Given the description of an element on the screen output the (x, y) to click on. 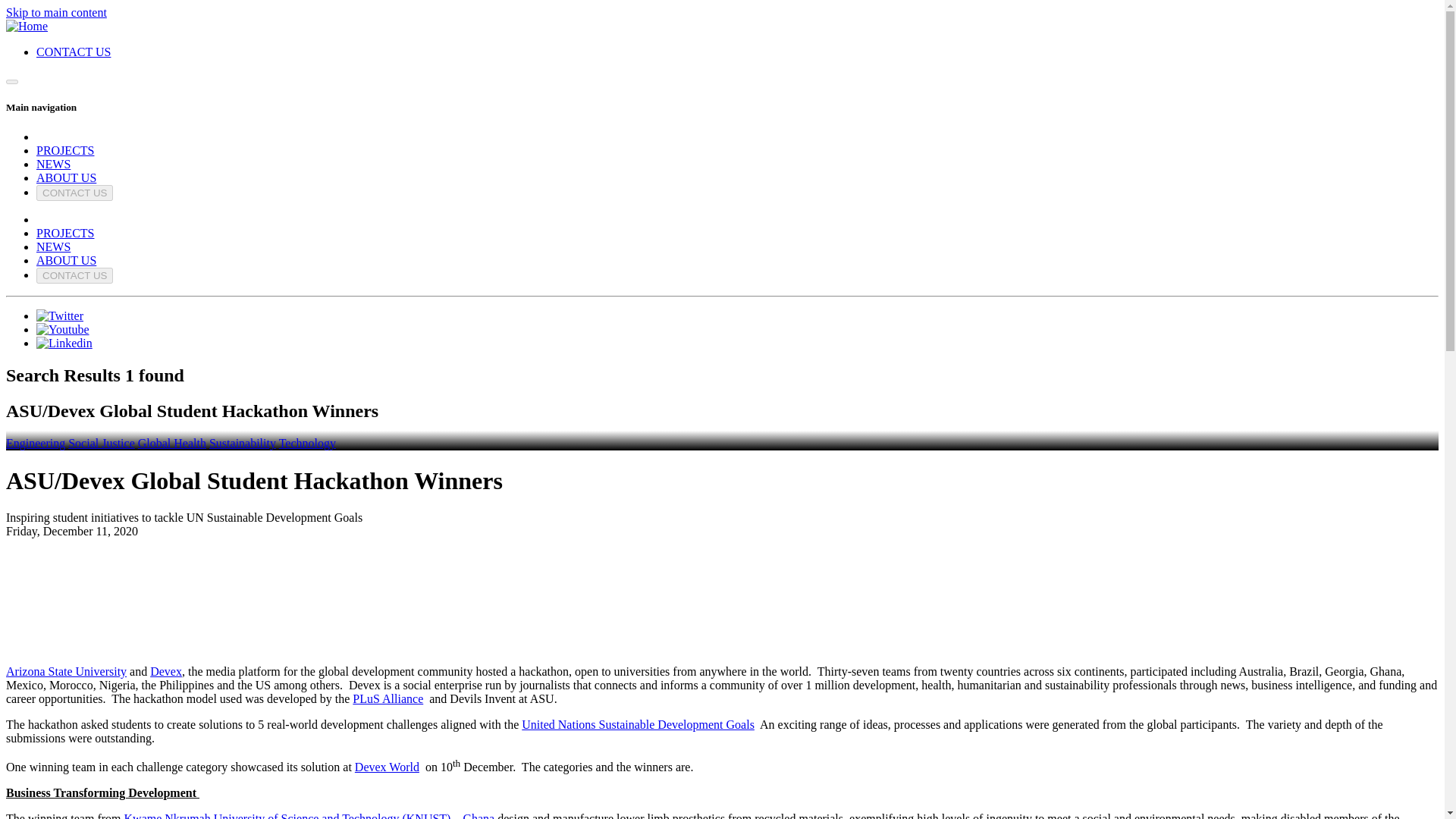
Technology (307, 442)
PROJECTS (65, 232)
Link opens in new window (59, 315)
ABOUT US (66, 259)
NEWS (52, 164)
ABOUT US (66, 177)
United Nations Sustainable Development Goals (637, 724)
CONTACT US (74, 275)
Sustainability (242, 442)
Home (26, 25)
Global Health (172, 442)
Devex World (387, 766)
Engineering (35, 442)
PLuS Alliance (387, 698)
CONTACT US (73, 51)
